Given the description of an element on the screen output the (x, y) to click on. 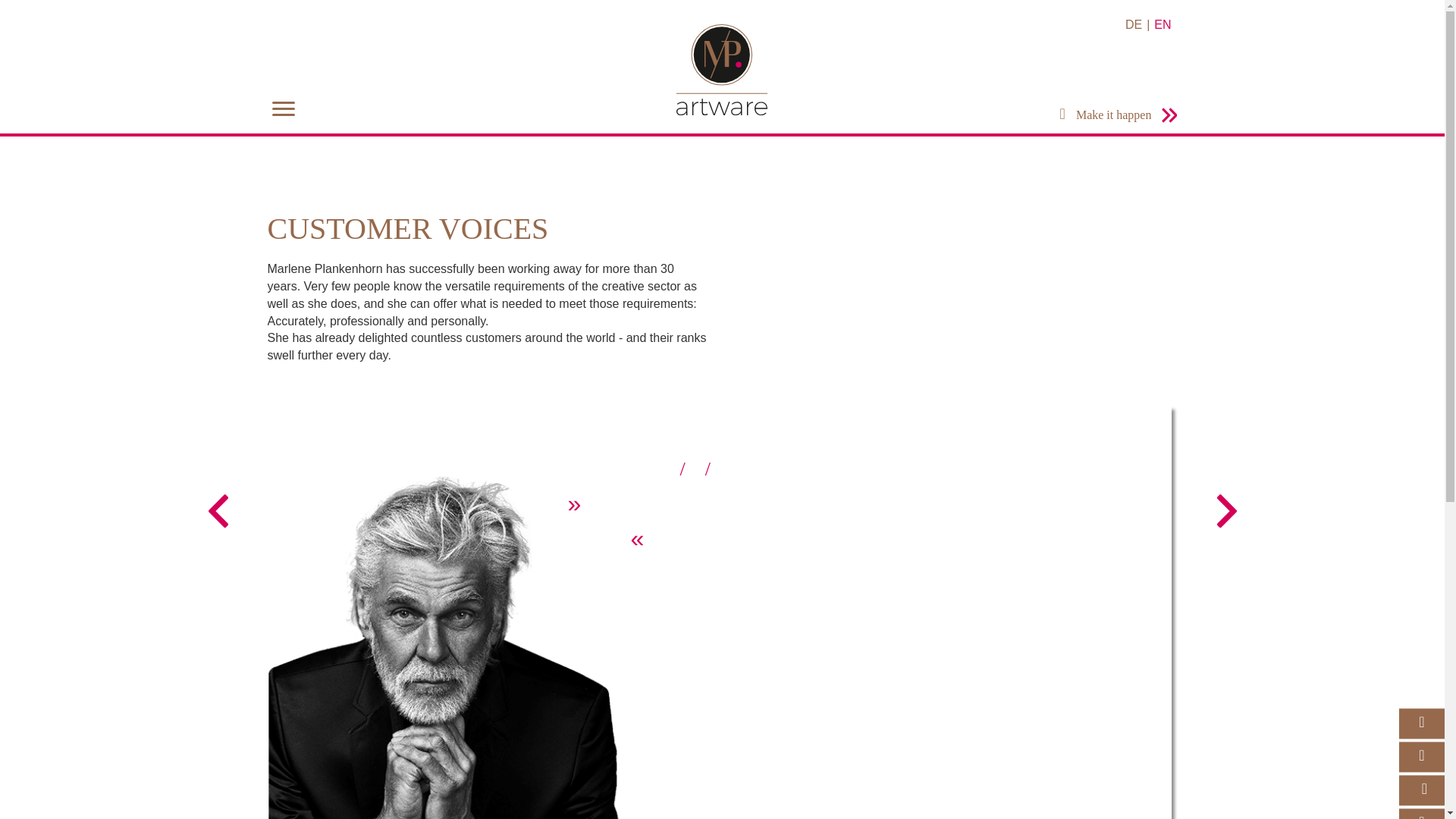
EN (1162, 24)
Go directly to the shop (1118, 114)
DE (1133, 24)
Make it happen (1118, 114)
